Given the description of an element on the screen output the (x, y) to click on. 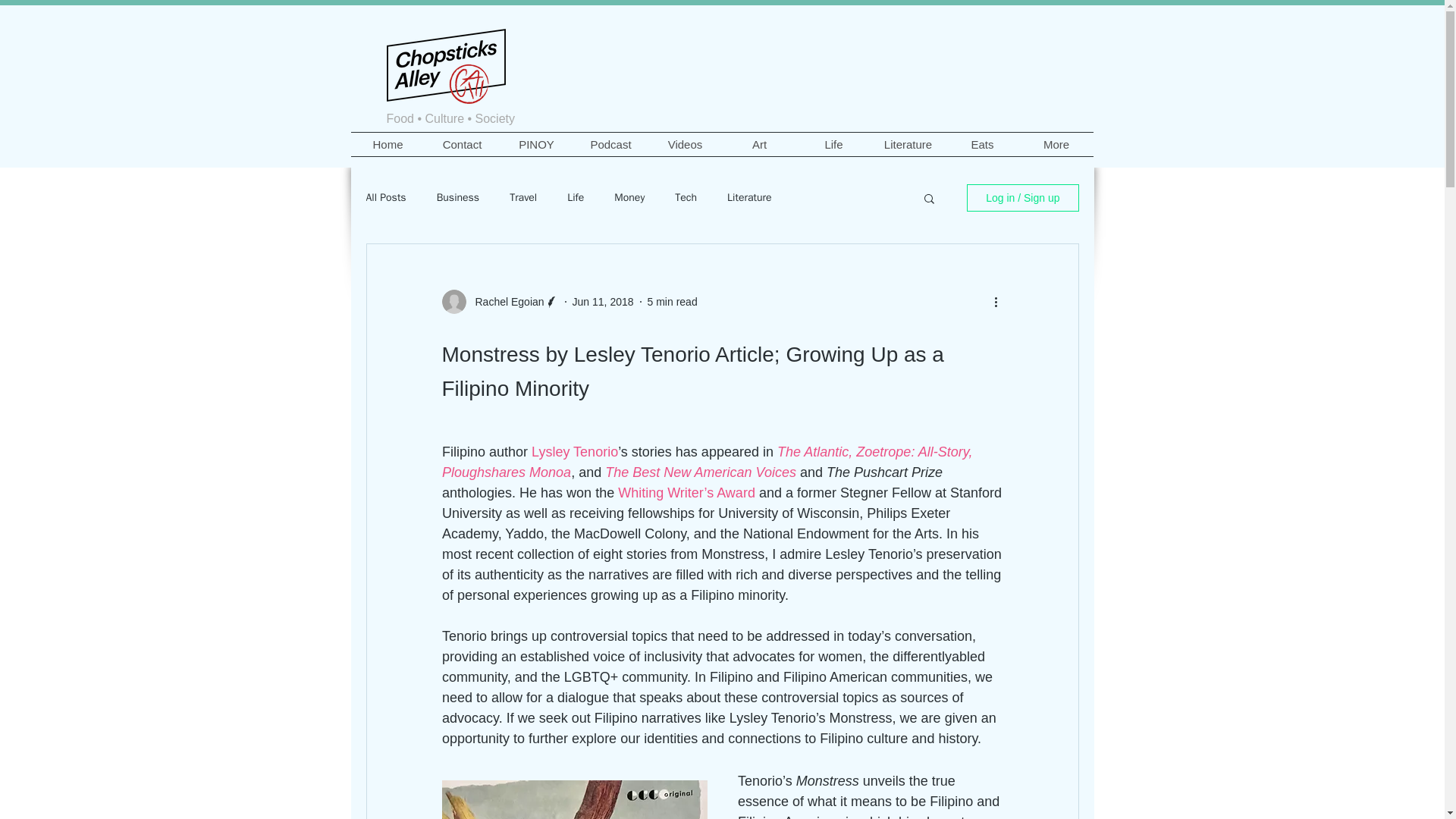
Home (387, 144)
Literature (907, 144)
Videos (684, 144)
Contact (462, 144)
Jun 11, 2018 (602, 301)
PINOY (536, 144)
Life (833, 144)
Rachel Egoian (504, 302)
5 min read (672, 301)
Eats (981, 144)
